Given the description of an element on the screen output the (x, y) to click on. 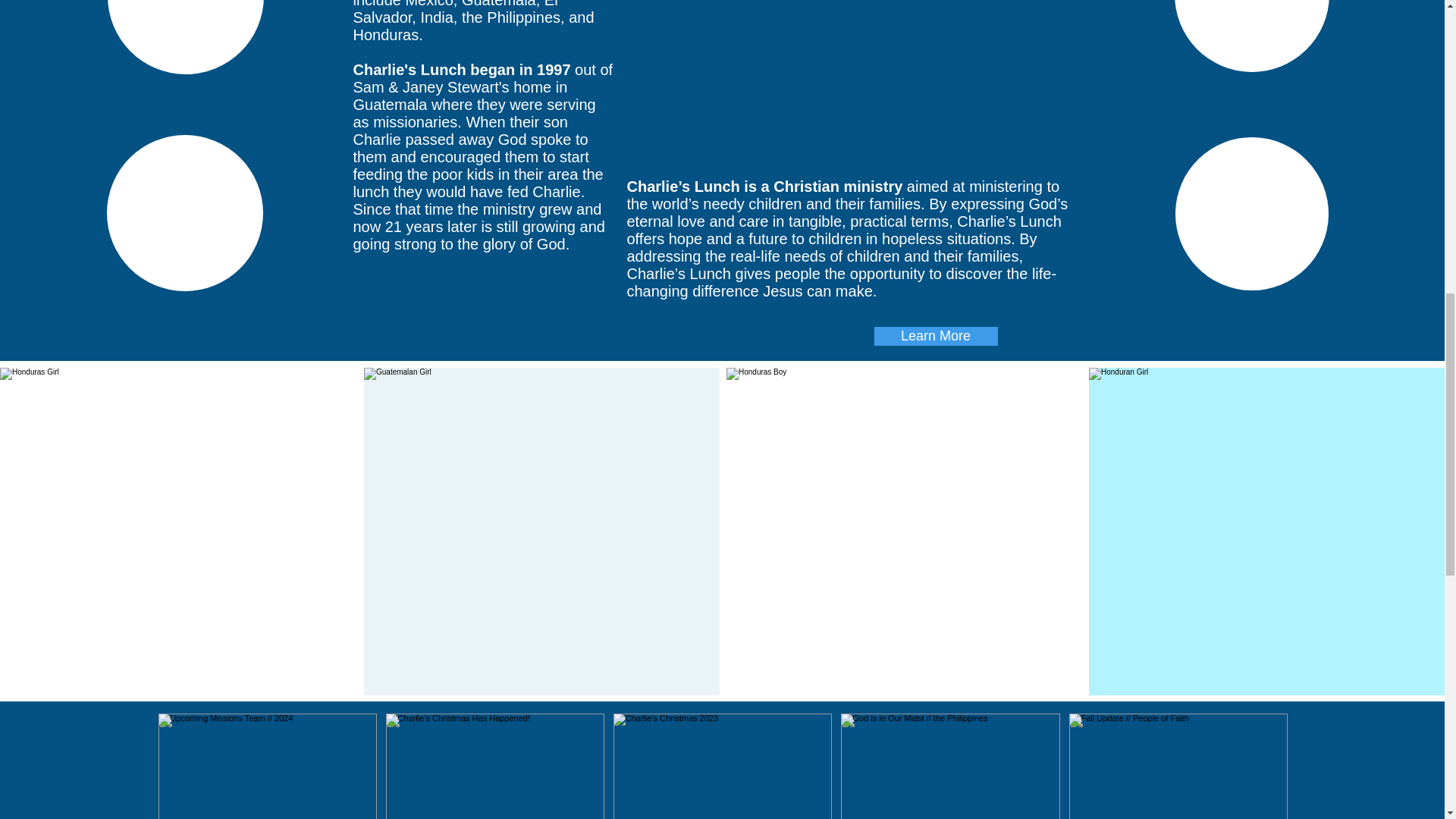
External Vimeo (853, 86)
Learn More (935, 335)
